Given the description of an element on the screen output the (x, y) to click on. 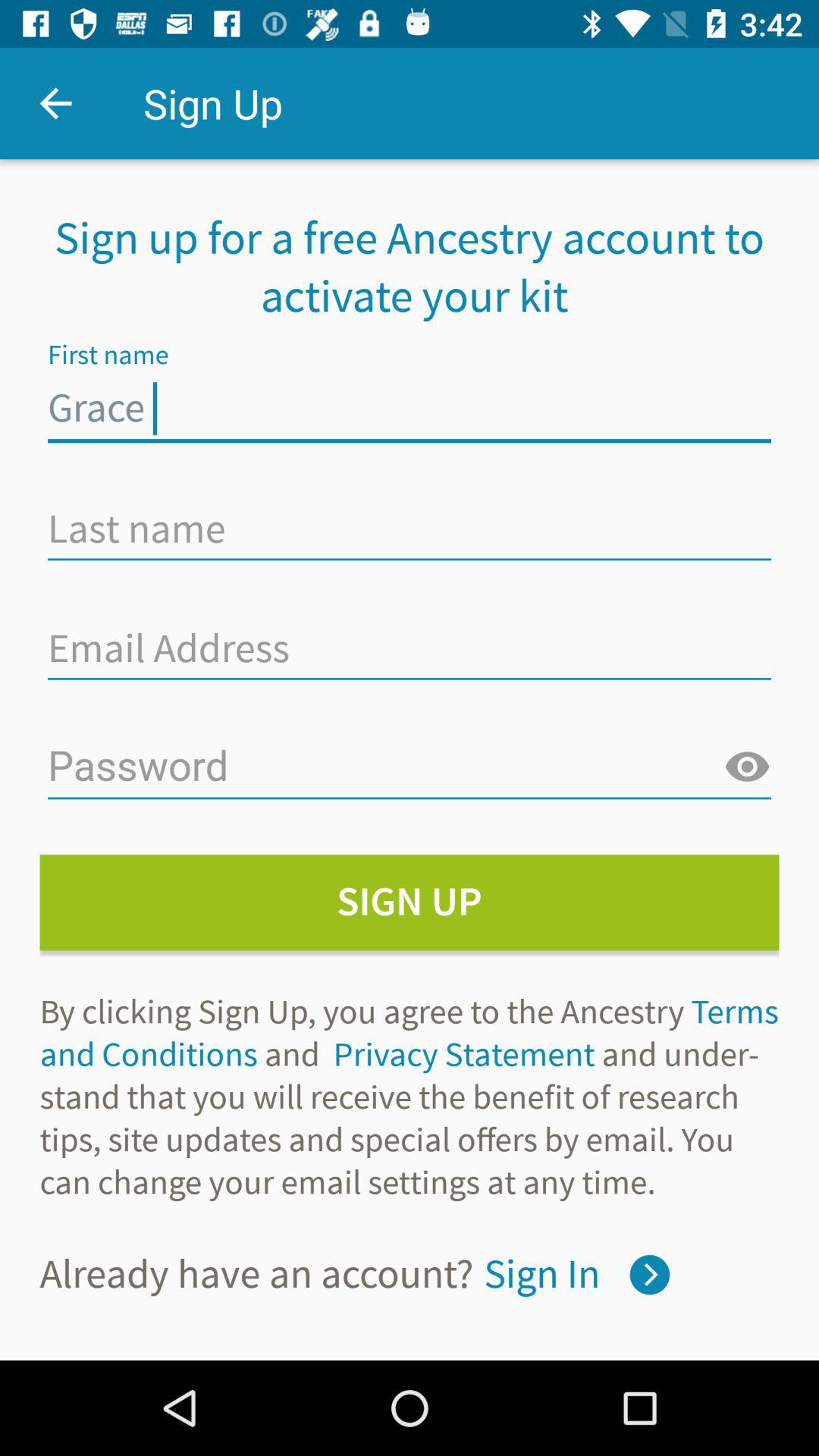
enter your password here (409, 767)
